Given the description of an element on the screen output the (x, y) to click on. 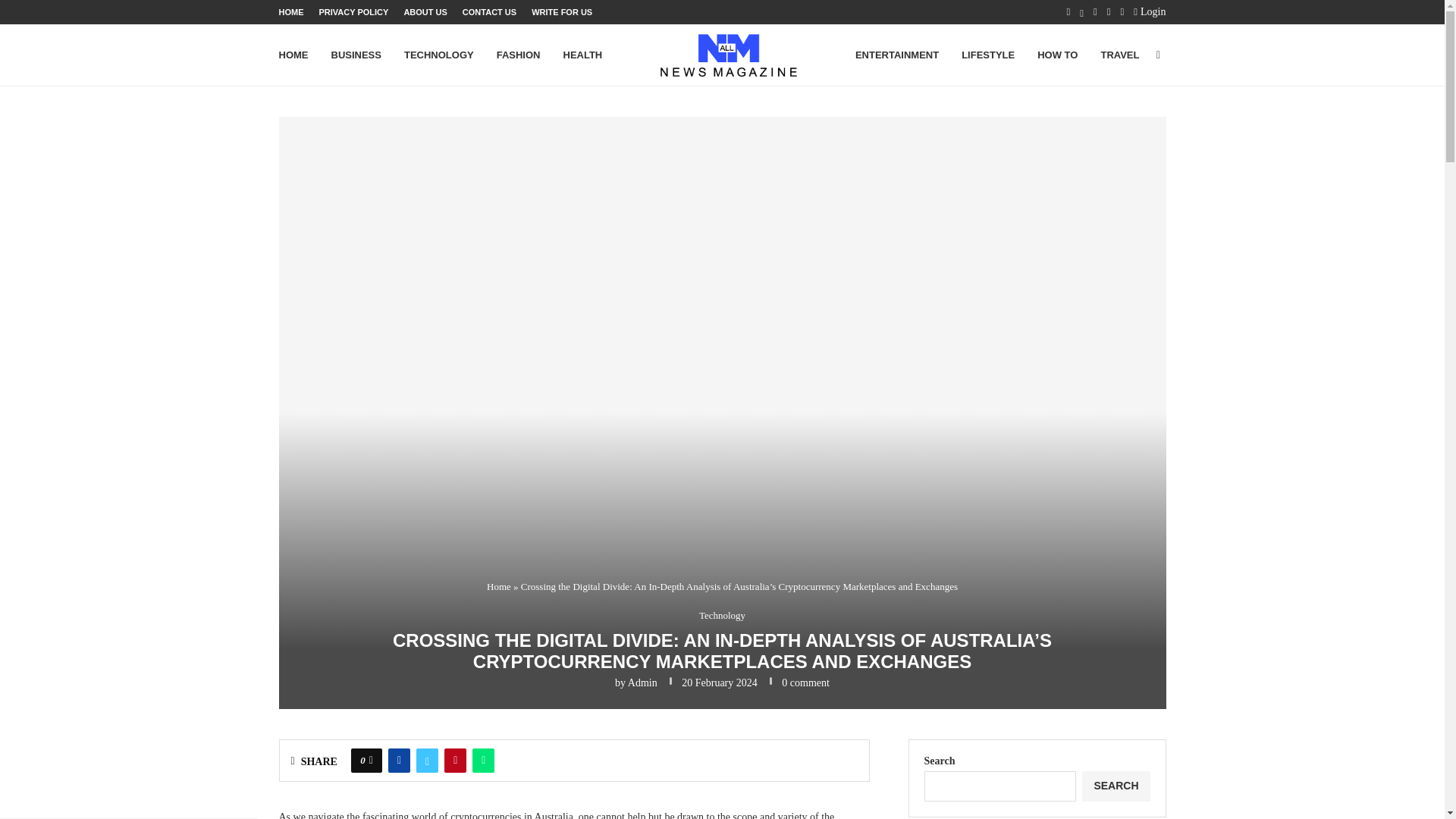
HOME (291, 12)
PRIVACY POLICY (353, 12)
CONTACT US (489, 12)
ABOUT US (424, 12)
ENTERTAINMENT (897, 55)
Home (498, 586)
Technology (721, 615)
TECHNOLOGY (439, 55)
Login (1150, 12)
WRITE FOR US (561, 12)
Admin (642, 682)
